Given the description of an element on the screen output the (x, y) to click on. 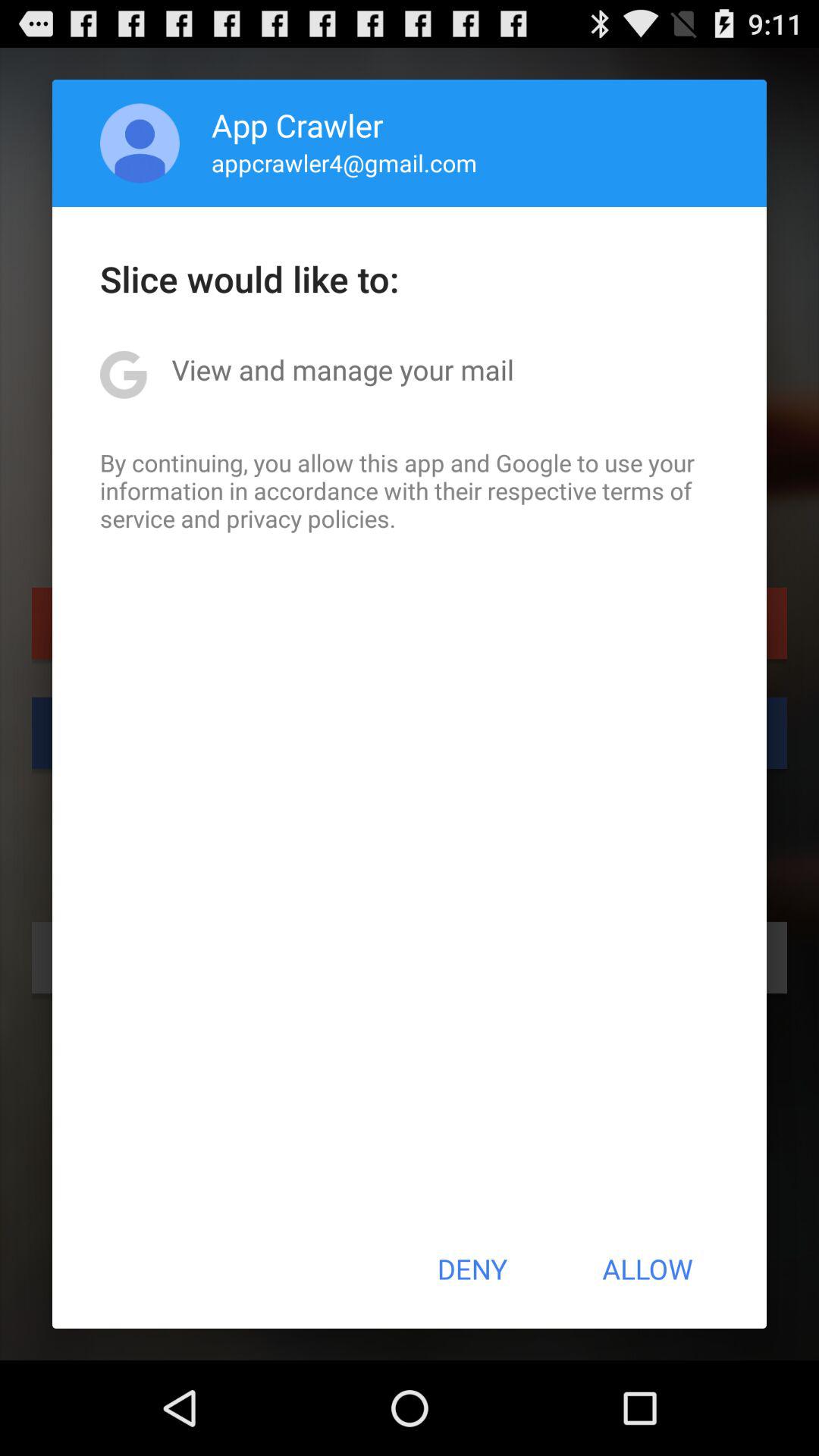
select the item next to allow button (471, 1268)
